Given the description of an element on the screen output the (x, y) to click on. 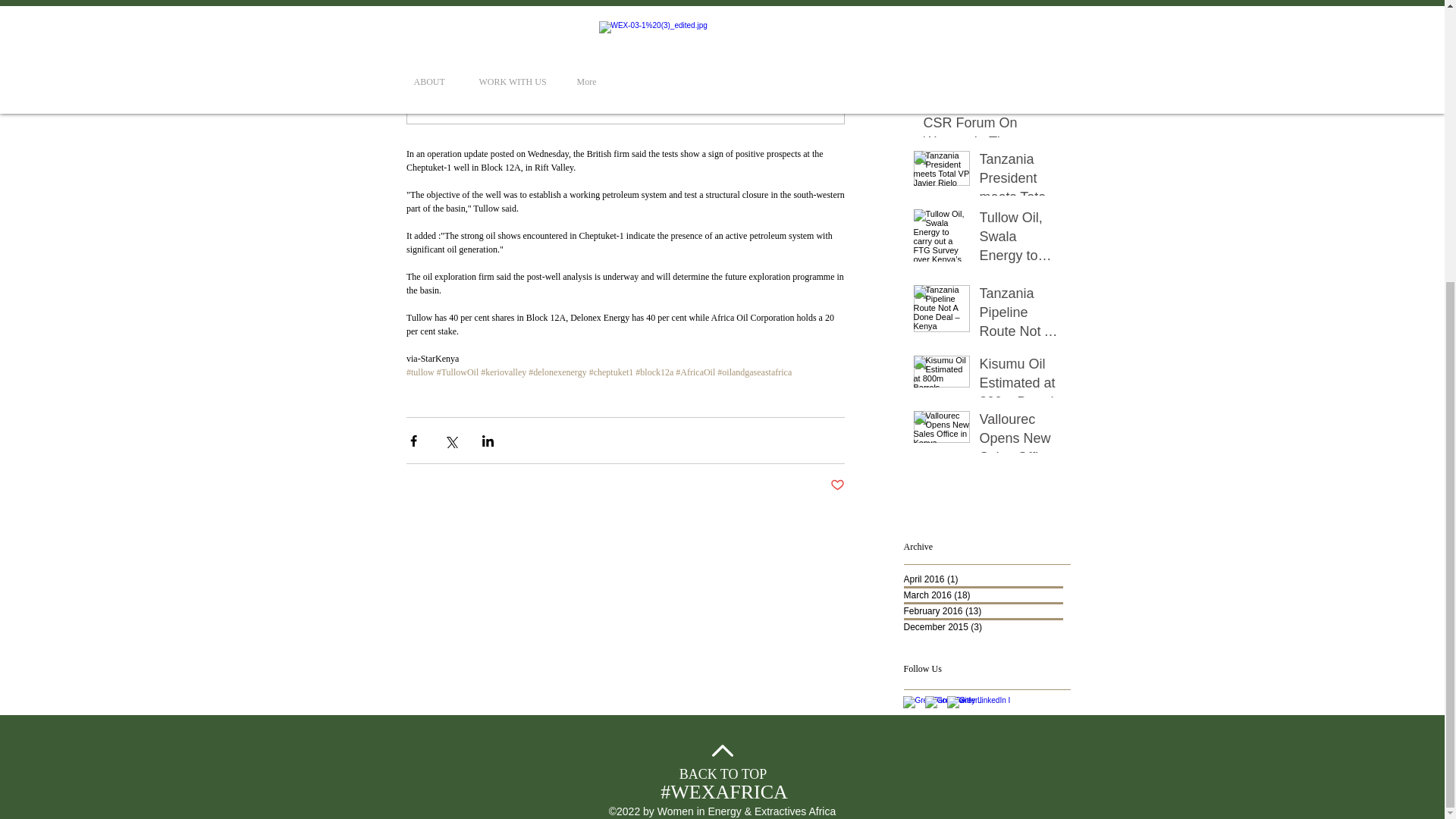
Highlights From The CSR Forum On Women In The Extractives (992, 126)
Kisumu Oil Estimated at 800m Barrels (1020, 386)
Vallourec Opens New Sales Office in Kenya (1020, 442)
BACK TO TOP (723, 774)
Post not marked as liked (836, 485)
